Given the description of an element on the screen output the (x, y) to click on. 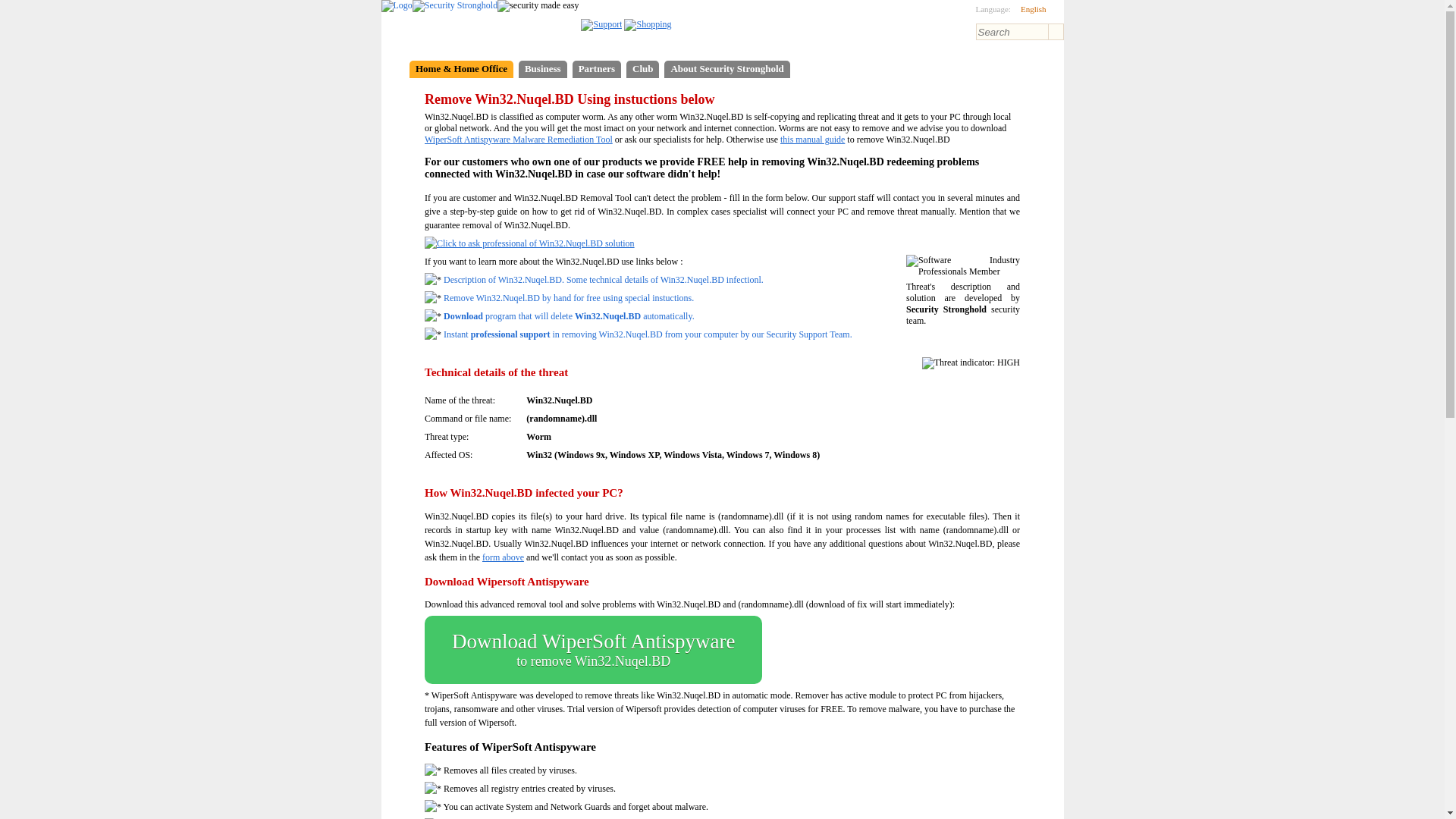
this manual guide (593, 649)
form above (812, 139)
English (502, 557)
Partners (1034, 9)
About Security Stronghold (596, 68)
Club (726, 68)
Threat indicator: HIGH (641, 68)
WiperSoft Antispyware Malware Remediation Tool (970, 363)
Business (518, 139)
